Given the description of an element on the screen output the (x, y) to click on. 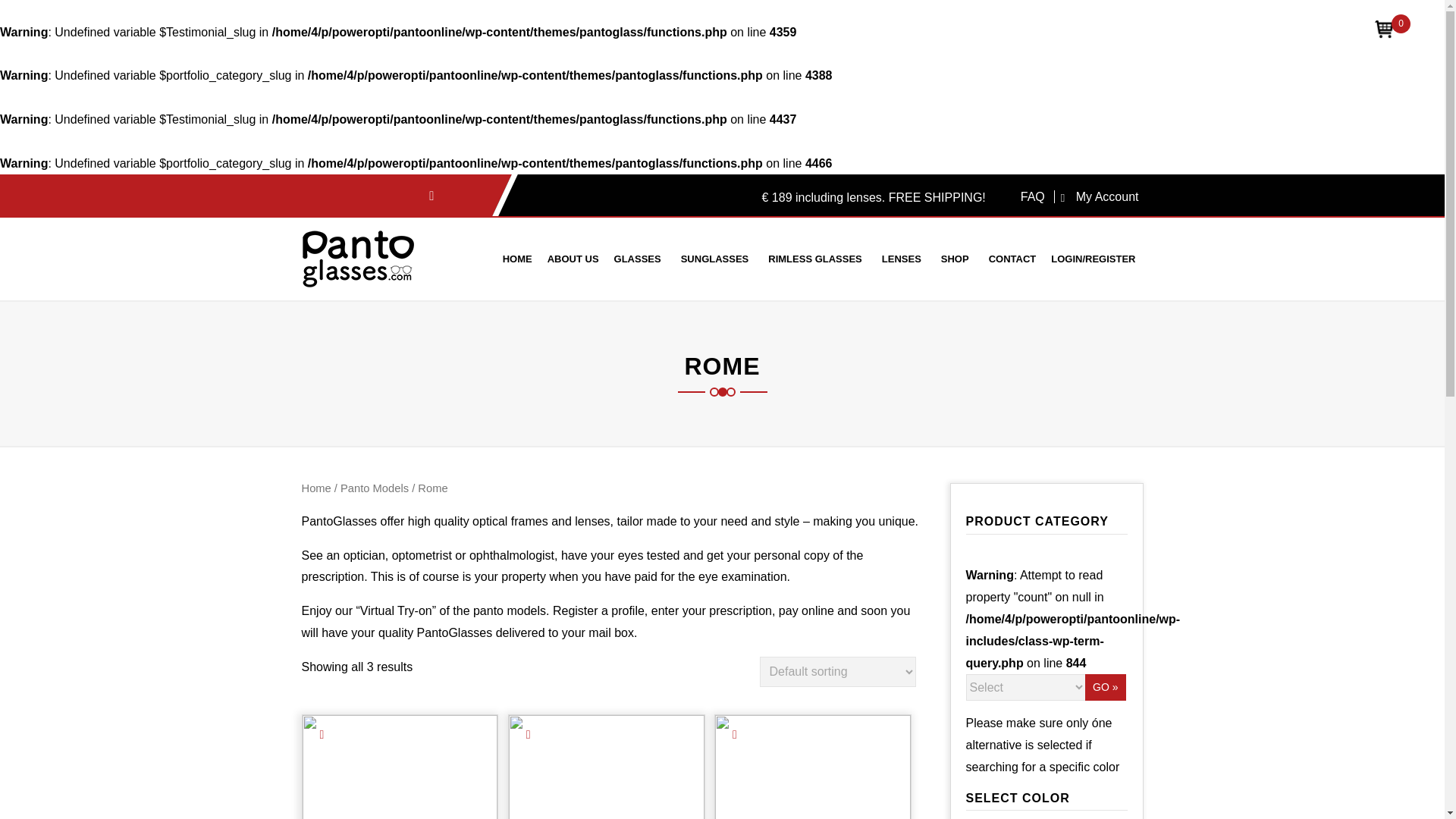
FAQ (1032, 196)
SUNGLASSES (715, 258)
RIMLESS GLASSES (814, 258)
HOME (517, 258)
GLASSES (637, 258)
LENSES (901, 258)
SHOP (954, 258)
My Account (1096, 196)
ABOUT US (572, 258)
